Given the description of an element on the screen output the (x, y) to click on. 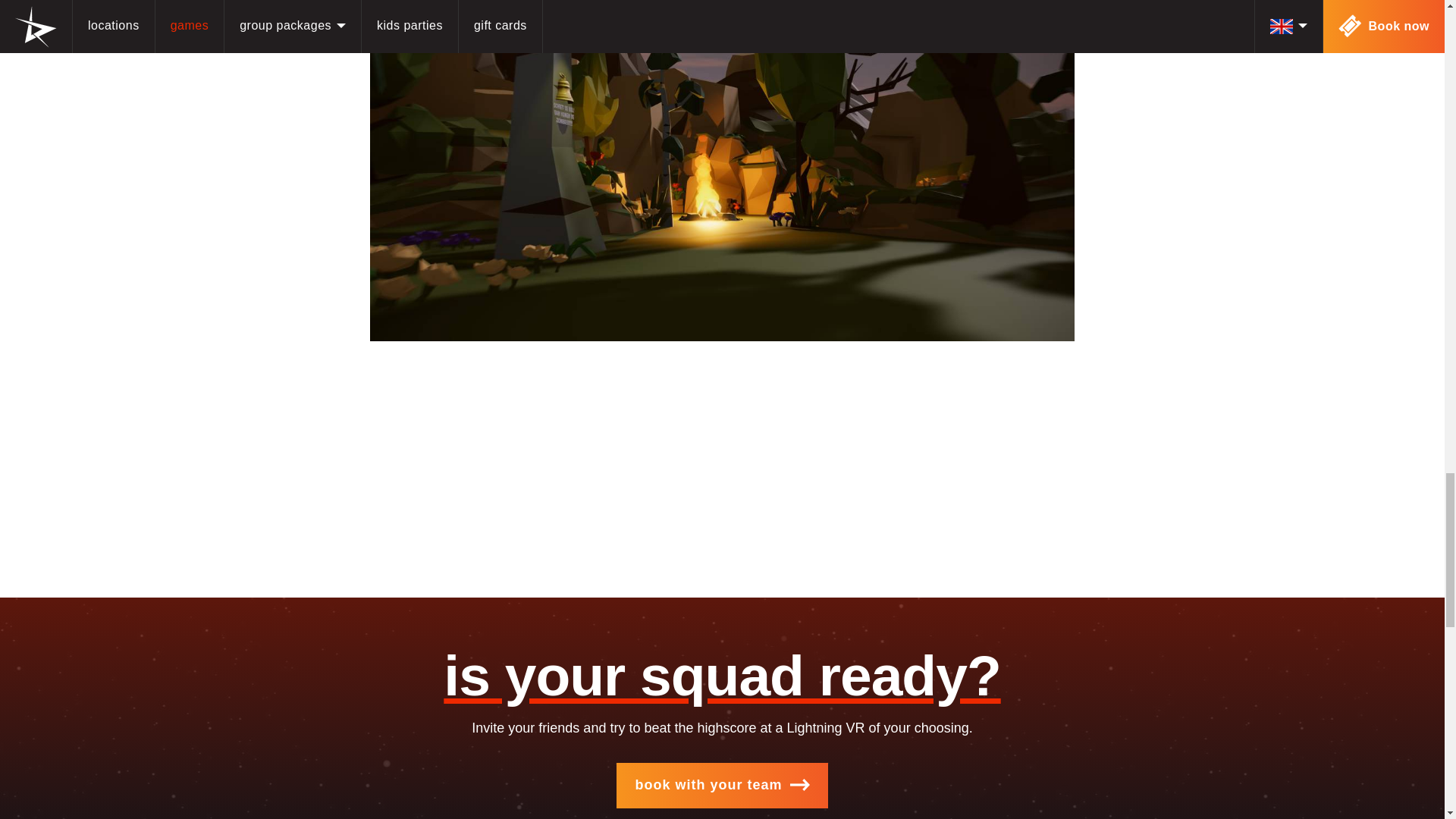
book with your team (721, 785)
